Given the description of an element on the screen output the (x, y) to click on. 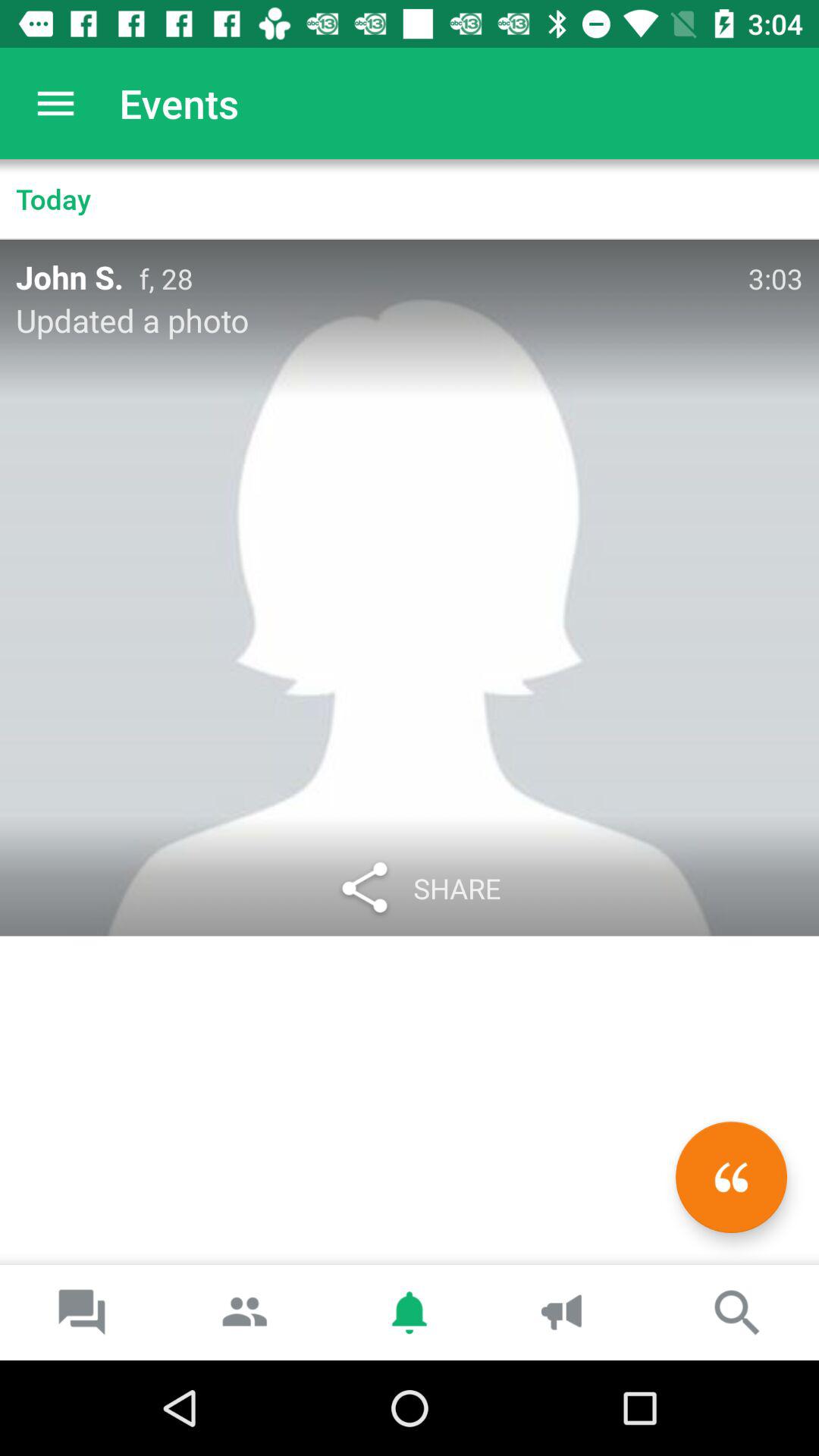
add caption (731, 1177)
